Given the description of an element on the screen output the (x, y) to click on. 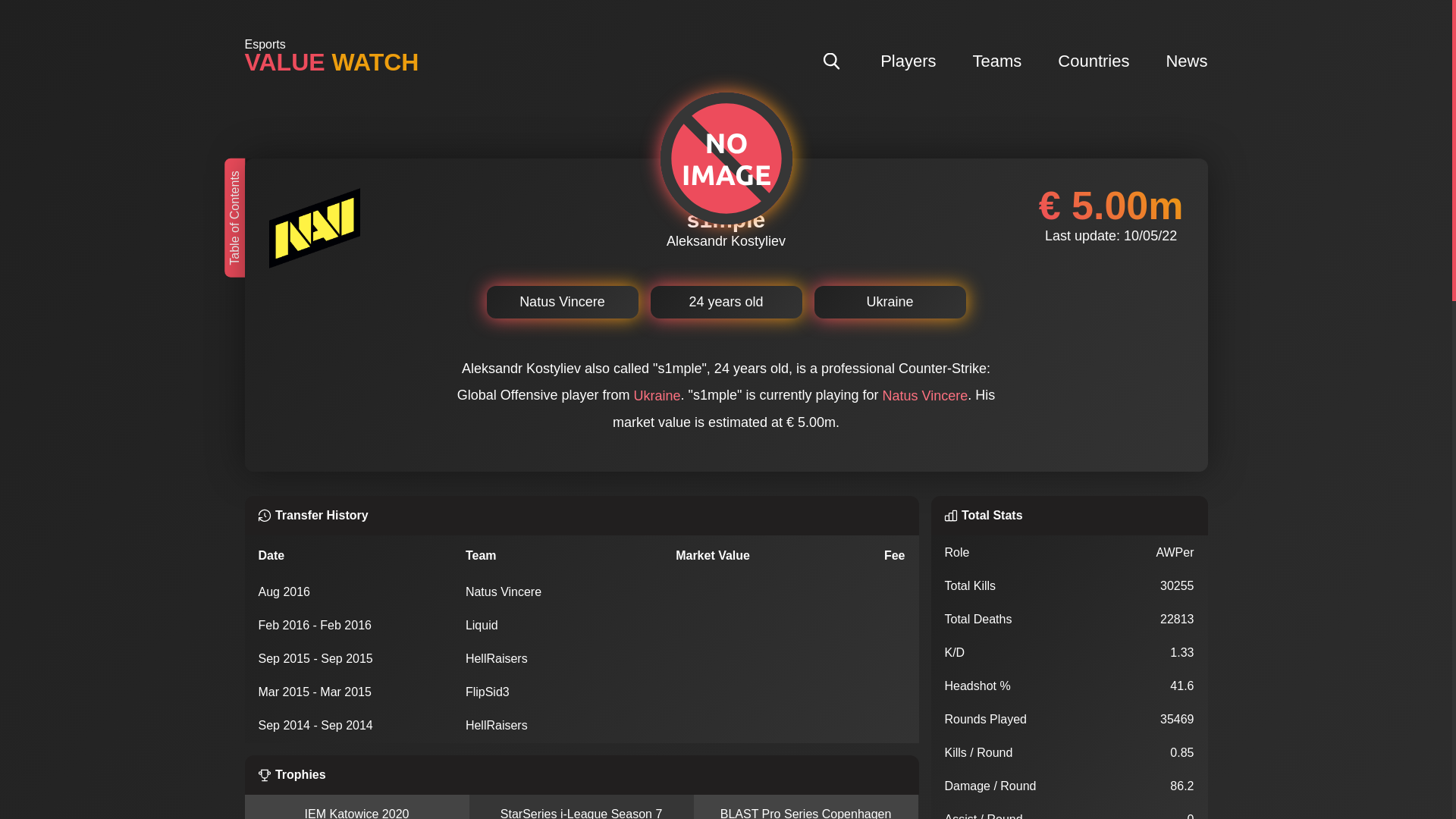
Market value history (310, 214)
The player: s1mple (307, 176)
Esports (264, 43)
Natus Vincere (562, 301)
News (1186, 59)
Teams (997, 59)
Player overview (299, 290)
Natus Vincere (925, 395)
Player overview (299, 290)
Market value history (310, 214)
